Given the description of an element on the screen output the (x, y) to click on. 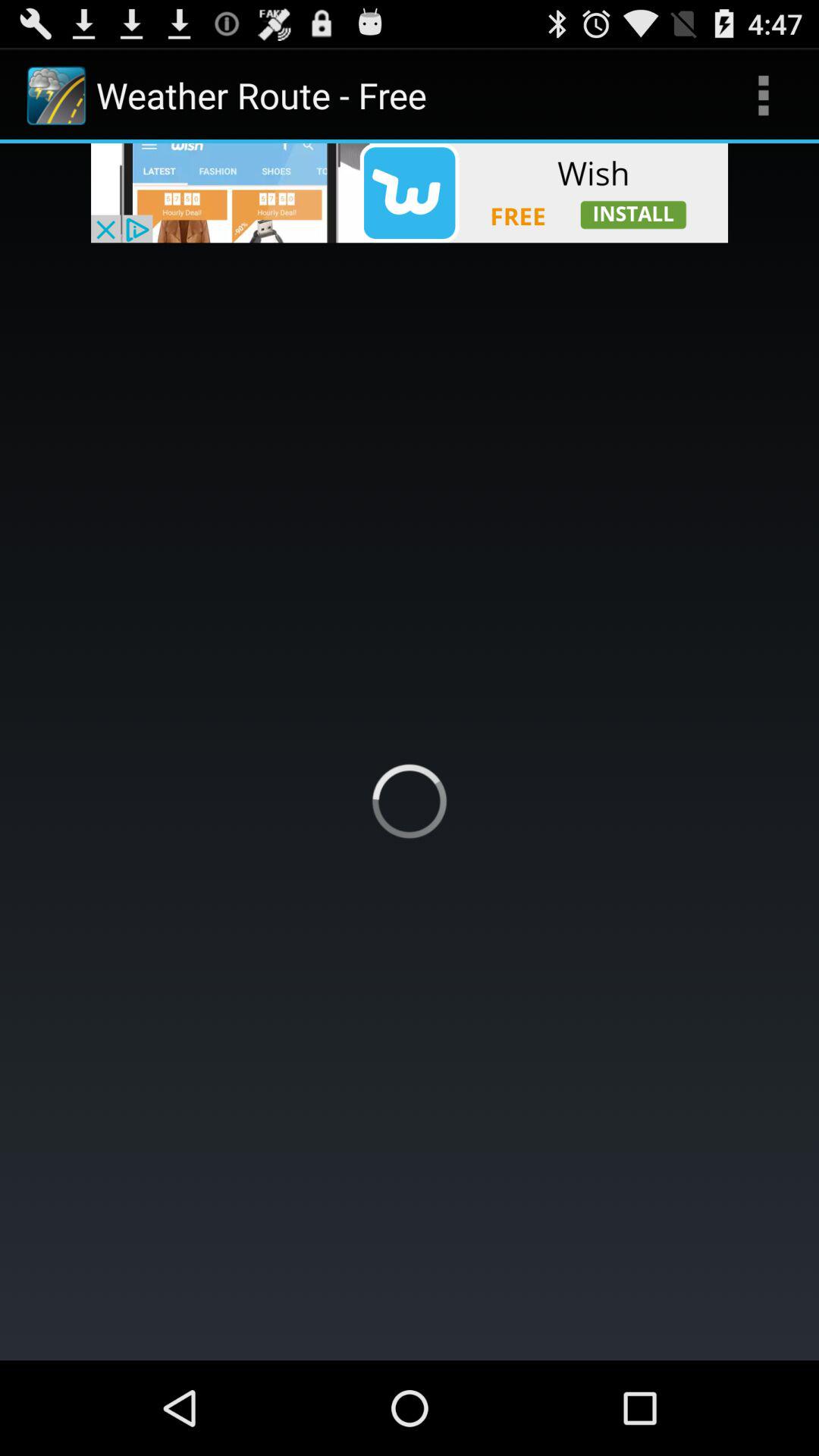
advertisement bar (409, 192)
